Given the description of an element on the screen output the (x, y) to click on. 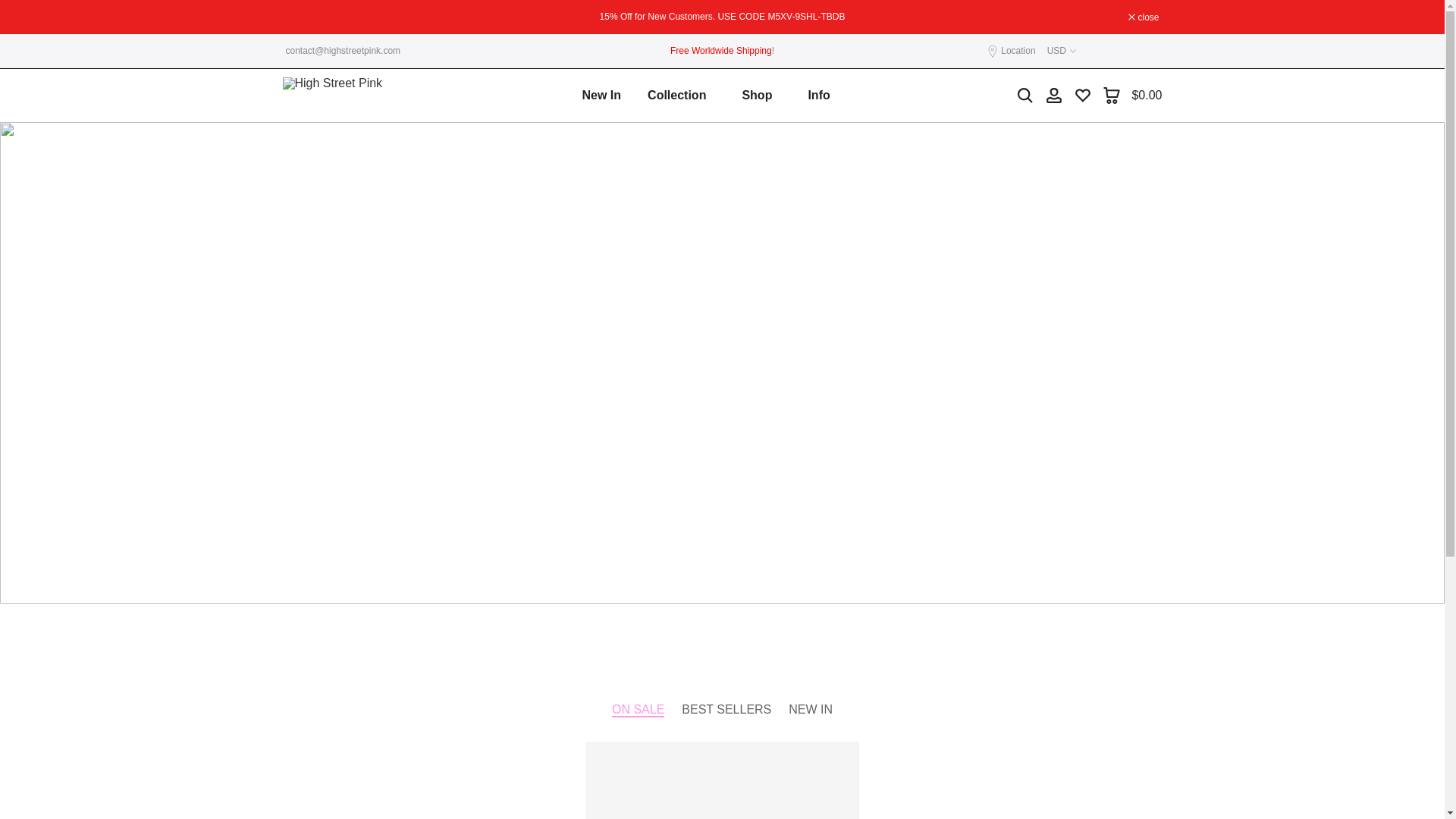
New In (601, 95)
close (1143, 16)
Location (1018, 50)
ON SALE (637, 710)
Shop (761, 95)
Info (822, 95)
NEW IN (810, 710)
BEST SELLERS (726, 710)
Skip to content (10, 7)
Collection (681, 95)
